Given the description of an element on the screen output the (x, y) to click on. 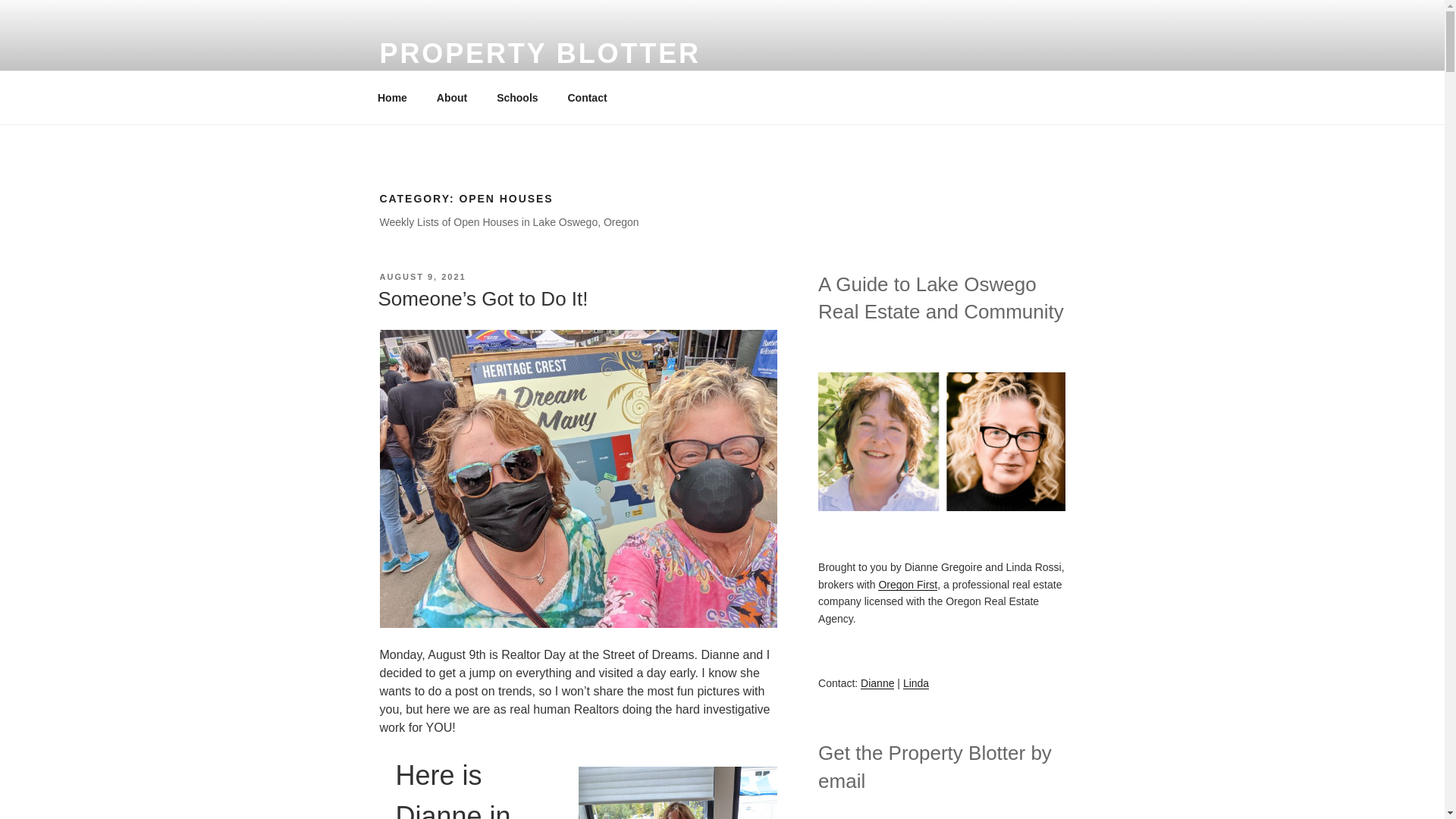
Oregon First (907, 584)
About (451, 97)
Home (392, 97)
AUGUST 9, 2021 (421, 276)
Contact (587, 97)
Schools (517, 97)
PROPERTY BLOTTER (539, 52)
